Given the description of an element on the screen output the (x, y) to click on. 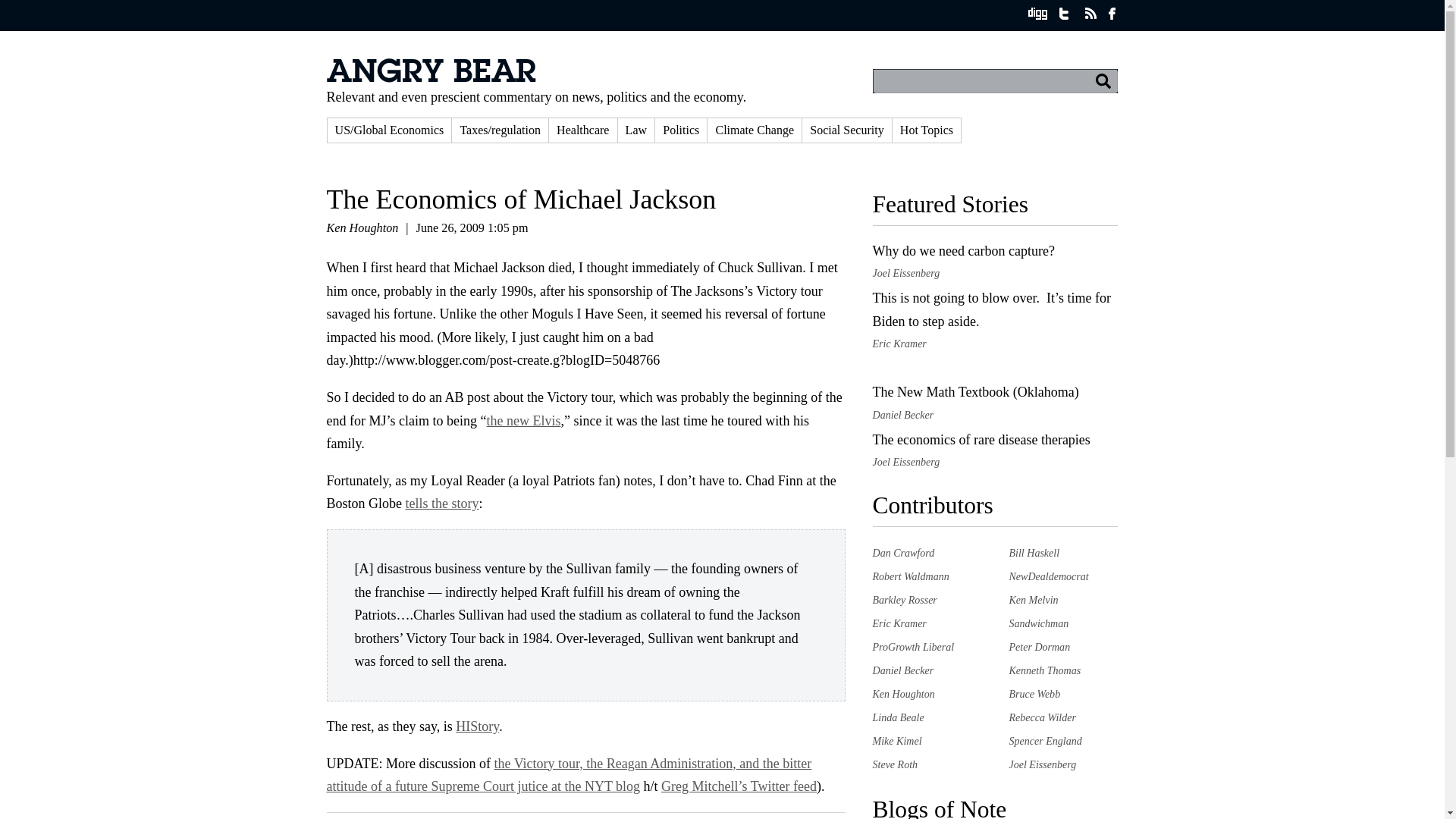
tells the story (442, 503)
HIStory (477, 726)
Linda Beale (897, 717)
Climate Change (754, 129)
Politics (680, 129)
Eric Kramer (899, 623)
Hot Topics (926, 129)
Why do we need carbon capture? (963, 250)
the new Elvis (523, 420)
The economics of rare disease therapies (980, 439)
Mike Kimel (896, 740)
Barkley Rosser (904, 599)
ProGrowth Liberal (912, 646)
Law (636, 129)
Dan Crawford (903, 552)
